Given the description of an element on the screen output the (x, y) to click on. 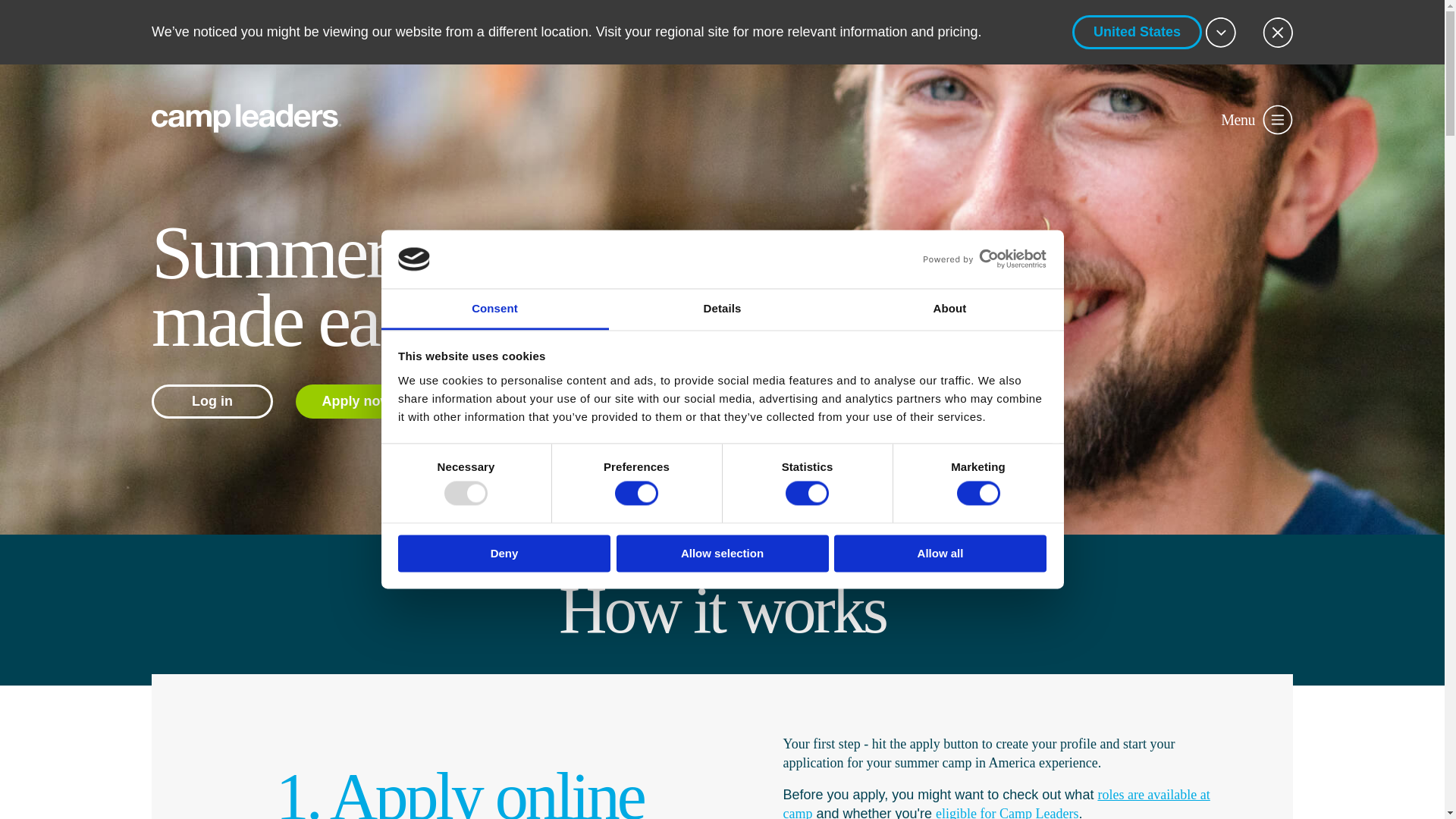
Details (721, 309)
About (948, 309)
Consent (494, 309)
